Given the description of an element on the screen output the (x, y) to click on. 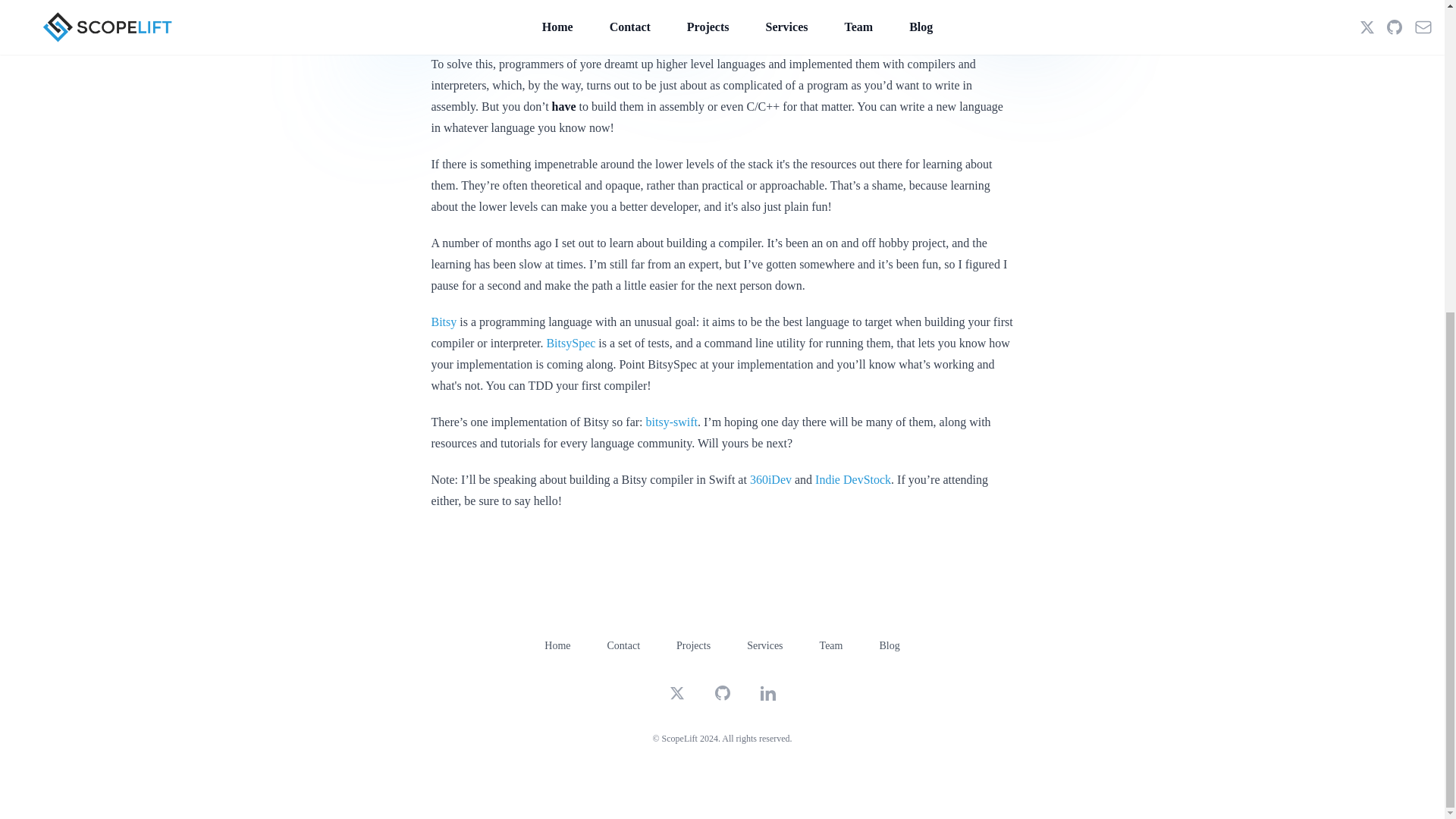
X (676, 693)
Contact (623, 645)
Blog (889, 645)
Home (557, 645)
Bitsy (443, 321)
Projects (693, 645)
GitHub (721, 693)
LinkedIn (767, 693)
Team (831, 645)
Indie DevStock (853, 479)
